Given the description of an element on the screen output the (x, y) to click on. 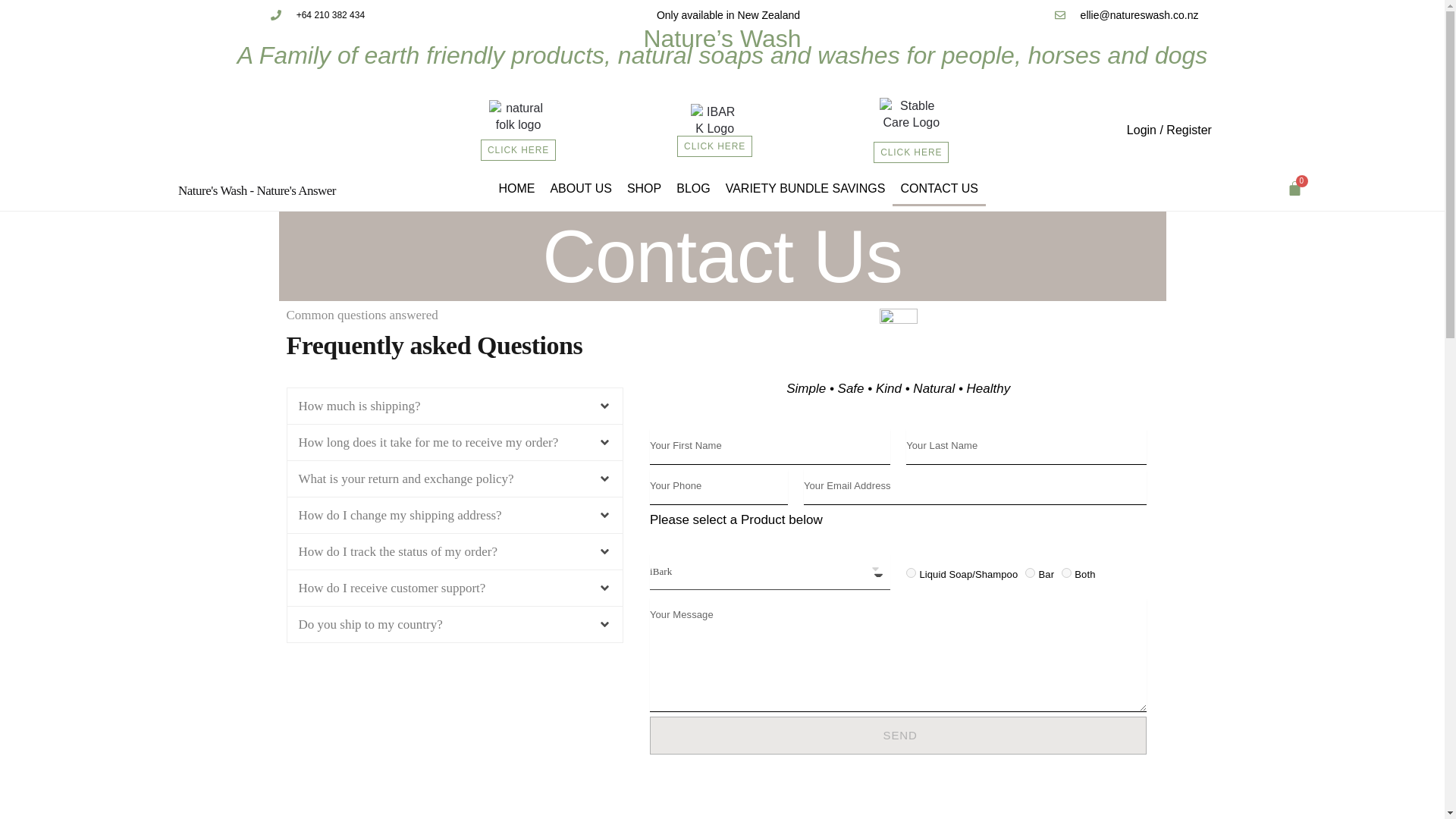
ABOUT US (580, 188)
HOME (515, 188)
What is your return and exchange policy? (405, 478)
CLICK HERE (714, 146)
How do I change my shipping address? (400, 514)
0 (1294, 188)
CLICK HERE (518, 149)
SHOP (644, 188)
Bar (1030, 573)
How long does it take for me to receive my order? (428, 441)
